Given the description of an element on the screen output the (x, y) to click on. 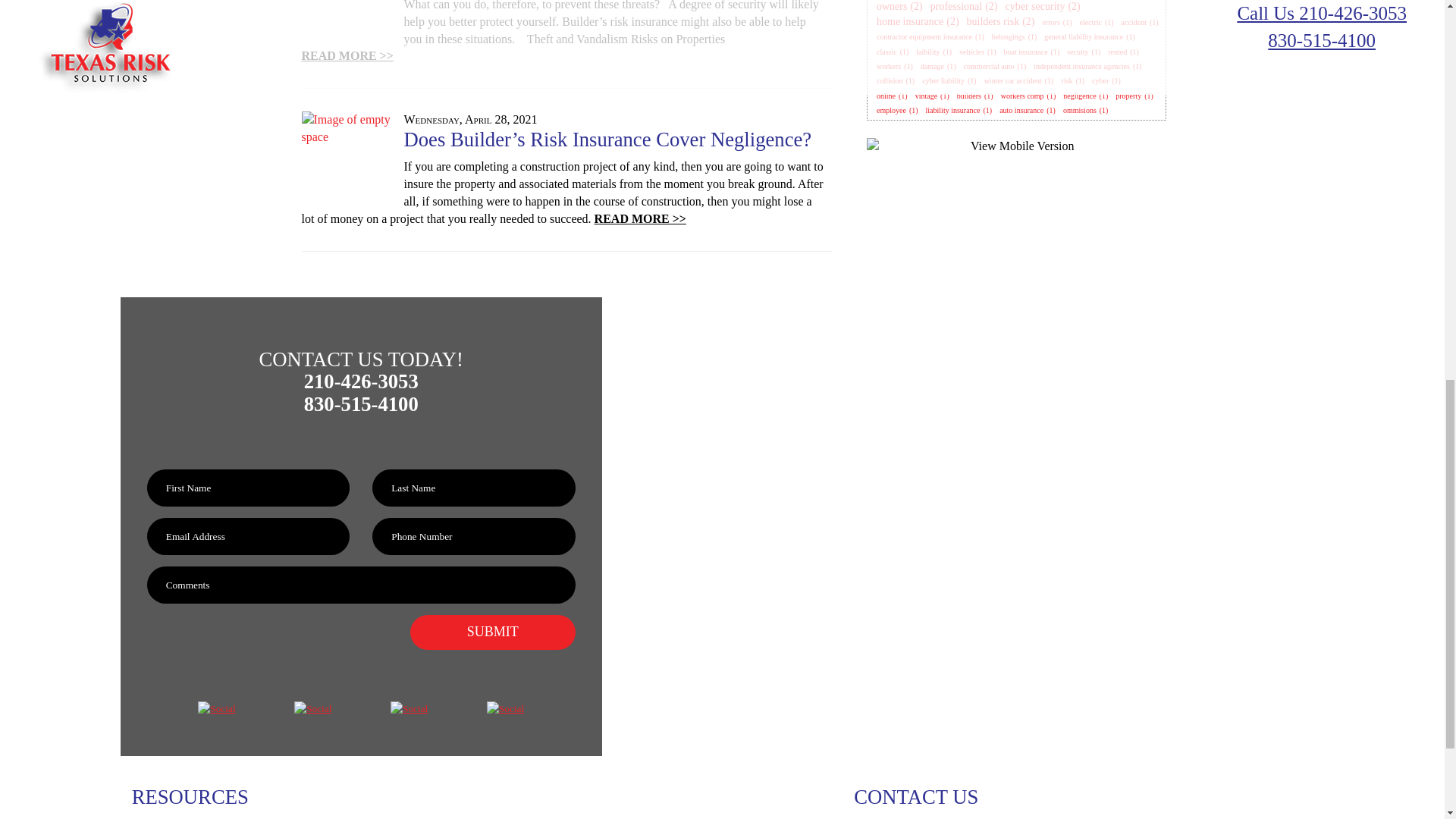
home insurance (909, 21)
cyber security (1035, 6)
professional (956, 6)
owners (891, 6)
